Given the description of an element on the screen output the (x, y) to click on. 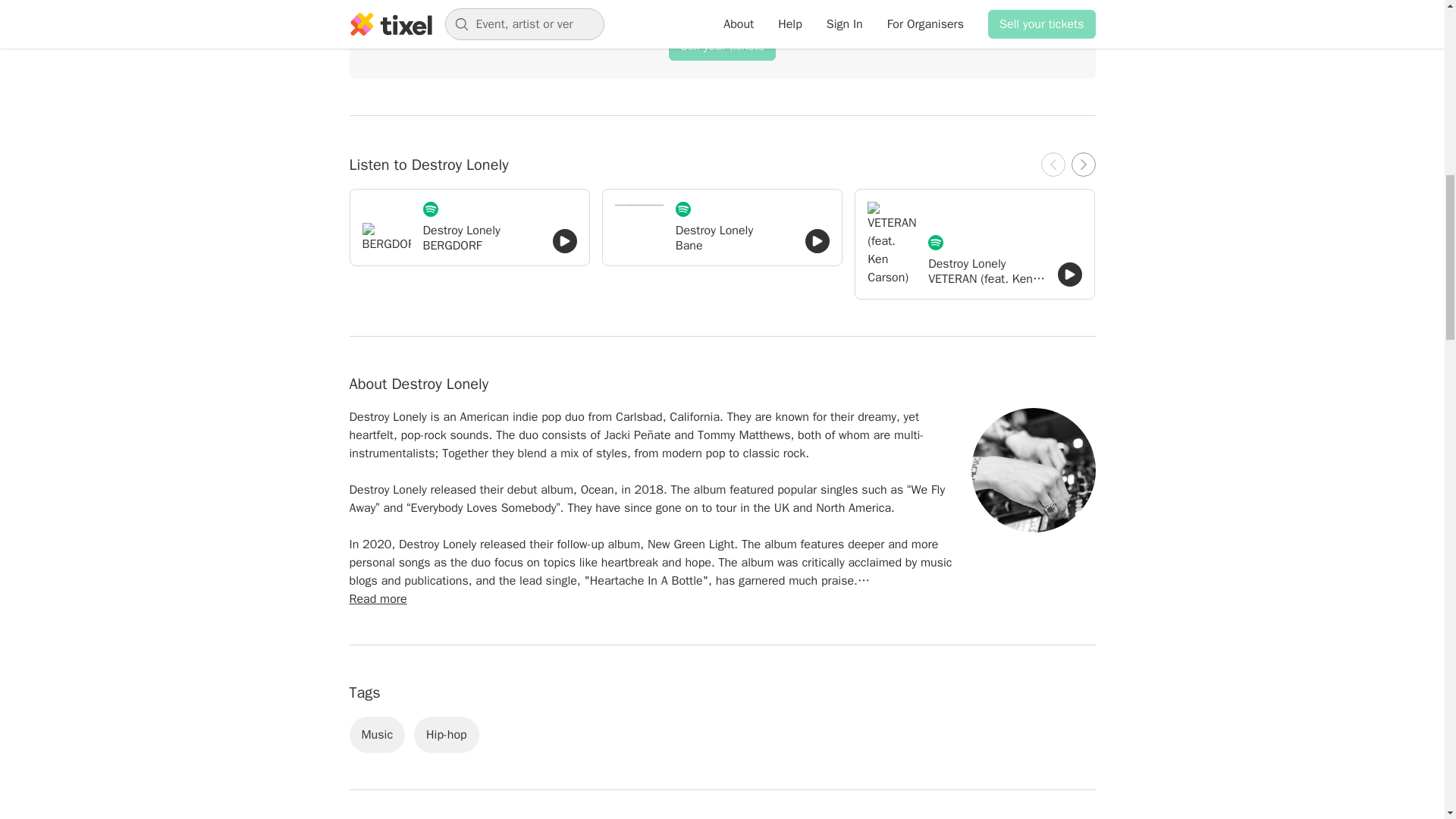
Sell your tickets (722, 45)
Sell your tickets (722, 45)
Hip-hop (446, 734)
Music (376, 734)
